Given the description of an element on the screen output the (x, y) to click on. 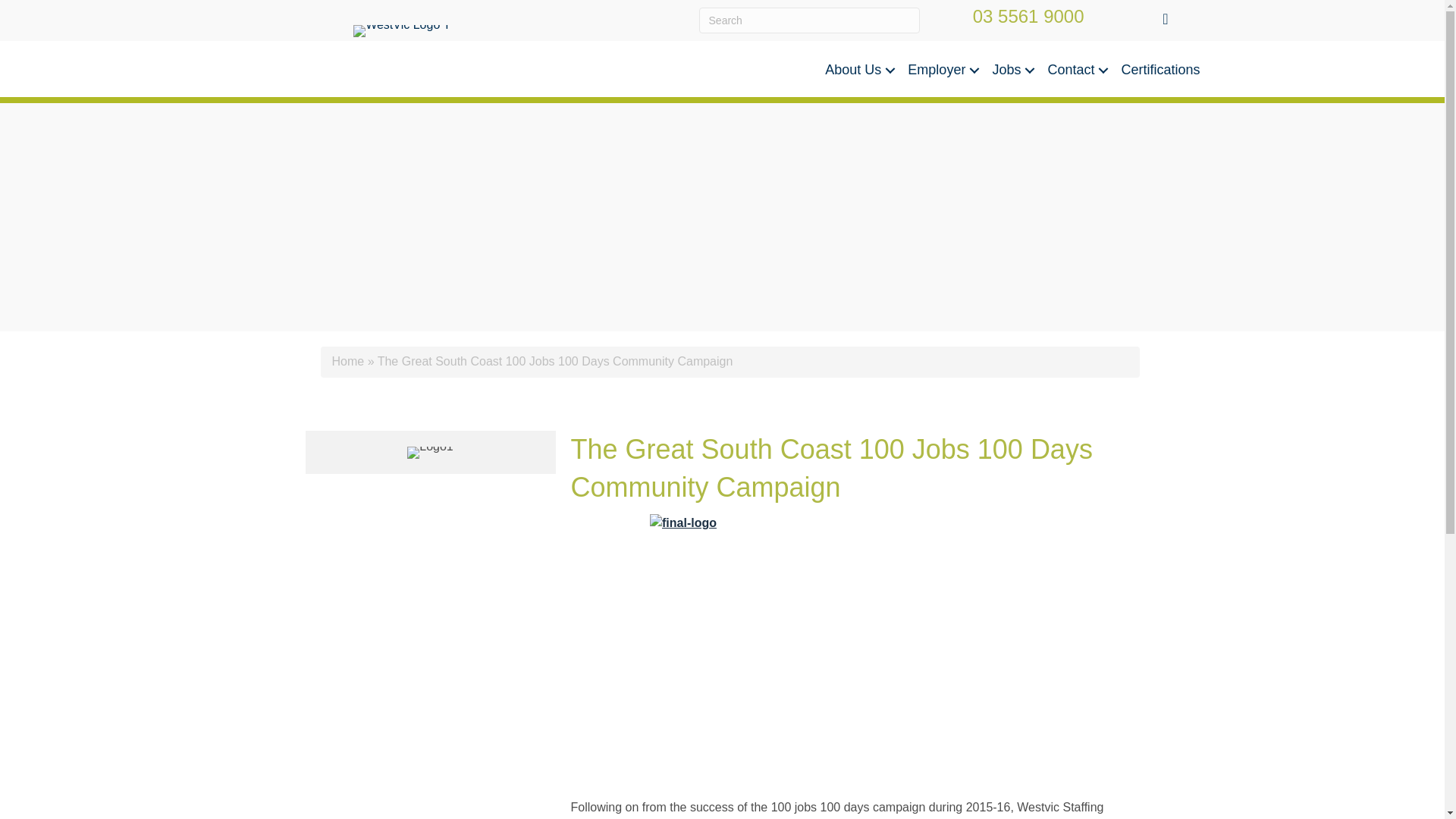
Contact (1075, 70)
Employer (941, 70)
WestVic Logo T (401, 30)
Type and press Enter to search. (809, 20)
Jobs (1011, 70)
Certifications (1160, 70)
Logo1 (429, 452)
About Us (857, 70)
